Given the description of an element on the screen output the (x, y) to click on. 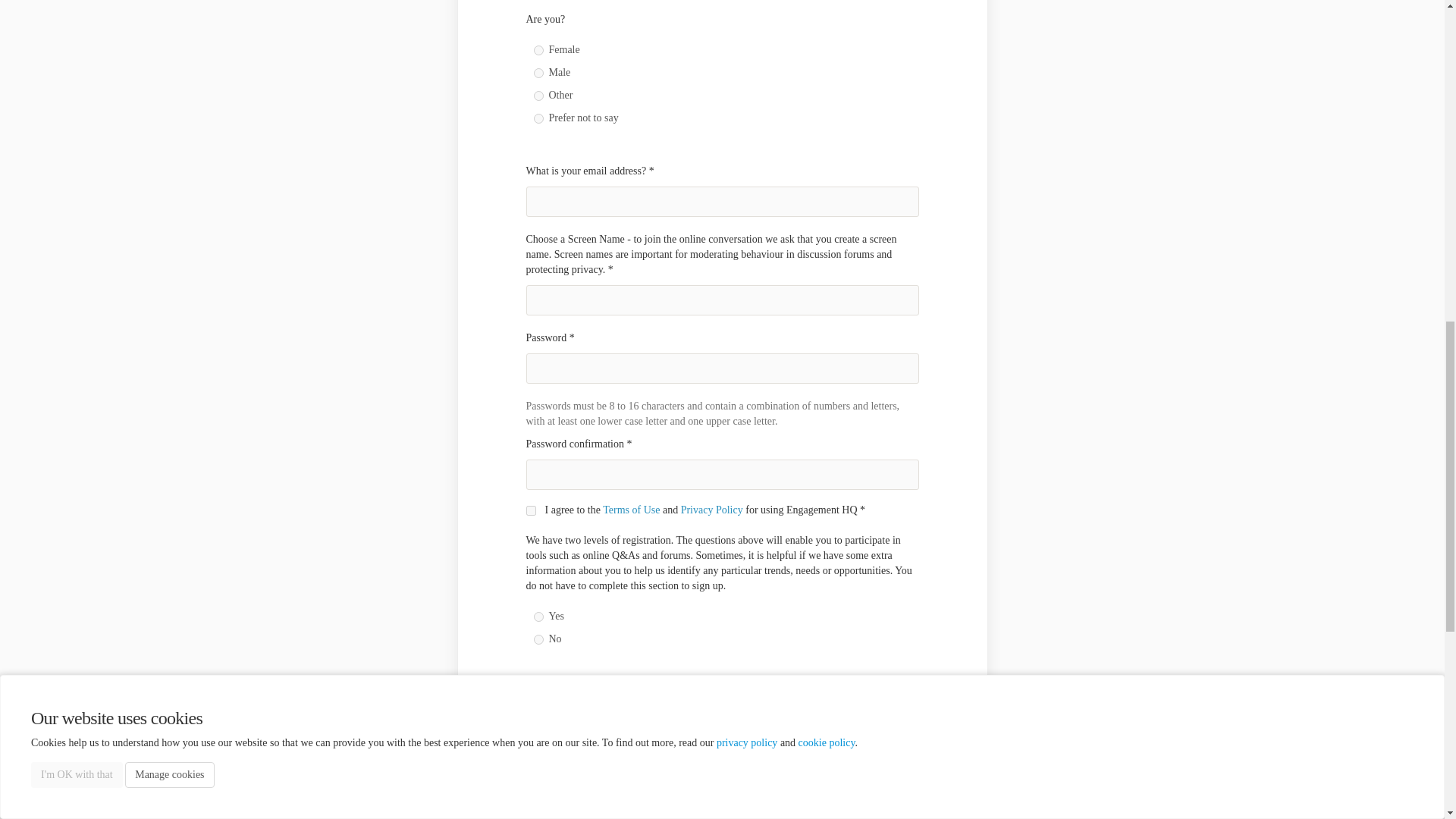
81294 (538, 50)
81296 (538, 95)
81295 (538, 72)
Terms of Use (630, 509)
1 (530, 510)
Privacy Policy (711, 509)
reCAPTCHA (641, 713)
Register (828, 766)
1159590 (538, 118)
